Given the description of an element on the screen output the (x, y) to click on. 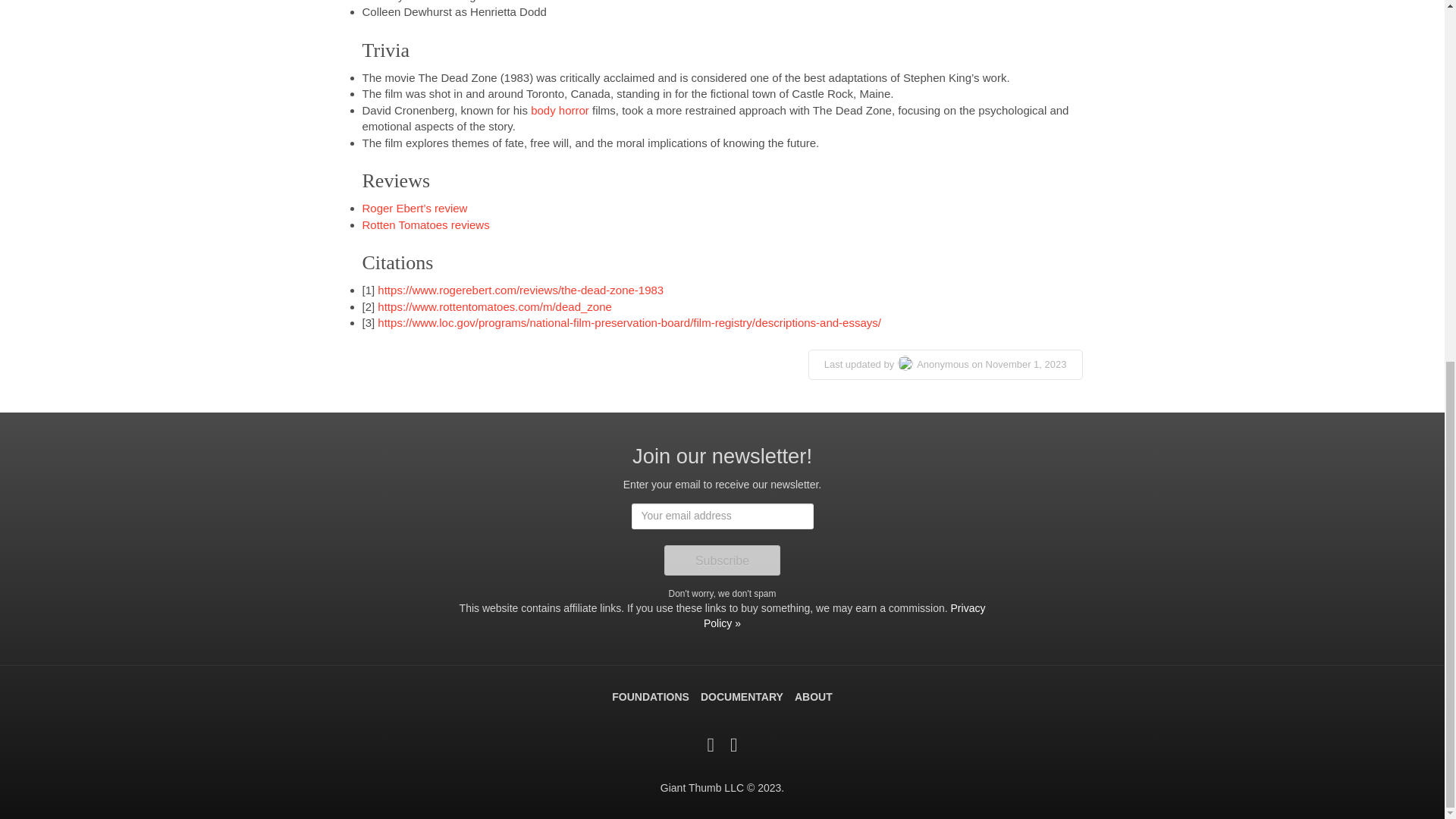
DOCUMENTARY (741, 697)
Subscribe (721, 560)
Rotten Tomatoes reviews (425, 224)
FOUNDATIONS (649, 697)
ABOUT (813, 697)
Subscribe (721, 560)
body horror (560, 110)
